Given the description of an element on the screen output the (x, y) to click on. 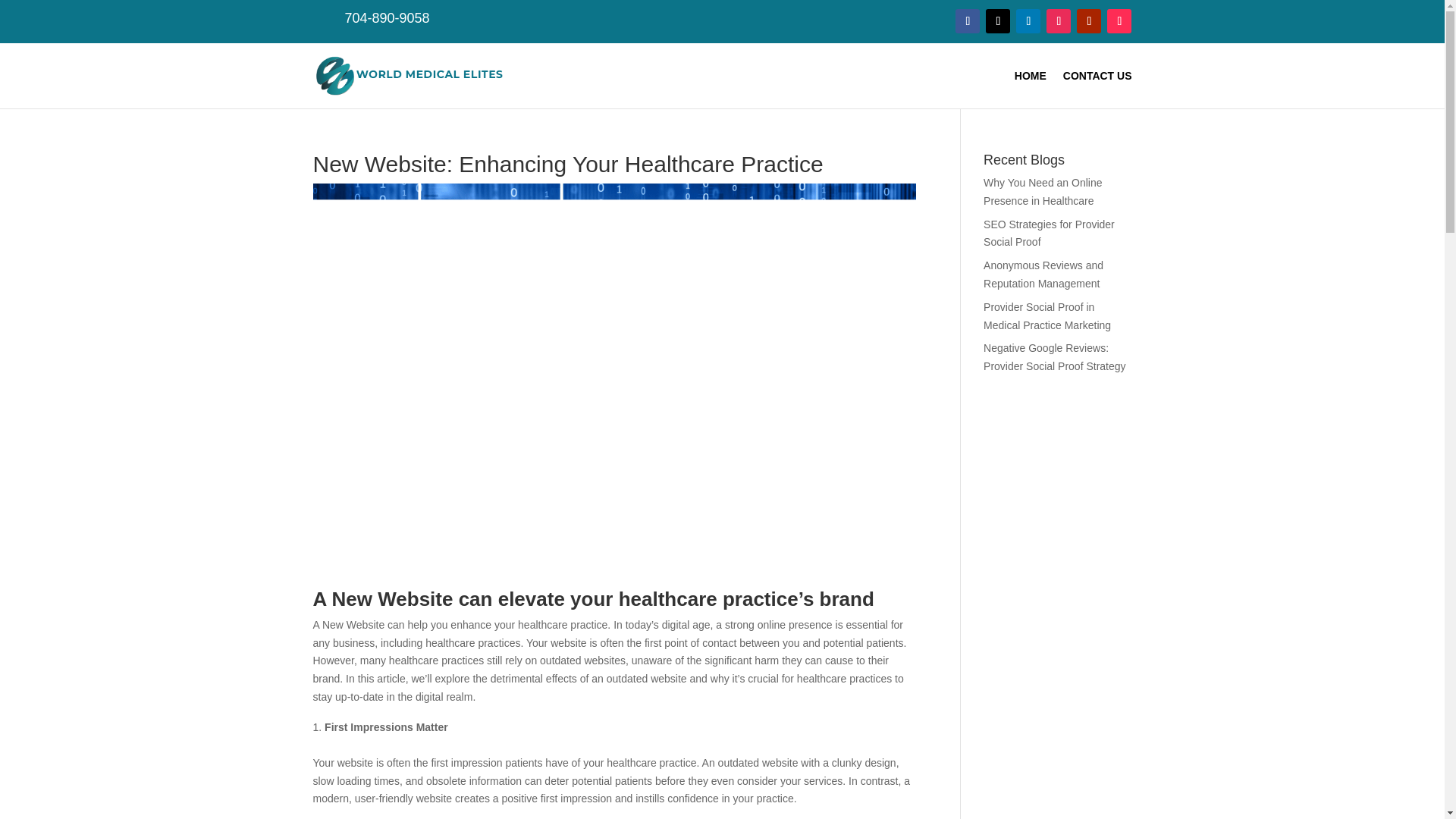
SEO Strategies for Provider Social Proof (1049, 233)
Anonymous Reviews and Reputation Management (1043, 274)
CONTACT US (1097, 75)
Why You Need an Online Presence in Healthcare (1043, 191)
704-890-9058 (386, 17)
Provider Social Proof in Medical Practice Marketing (1047, 316)
Follow on X (997, 21)
Follow on Facebook (967, 21)
Follow on LinkedIn (1028, 21)
Negative Google Reviews: Provider Social Proof Strategy (1054, 357)
